Given the description of an element on the screen output the (x, y) to click on. 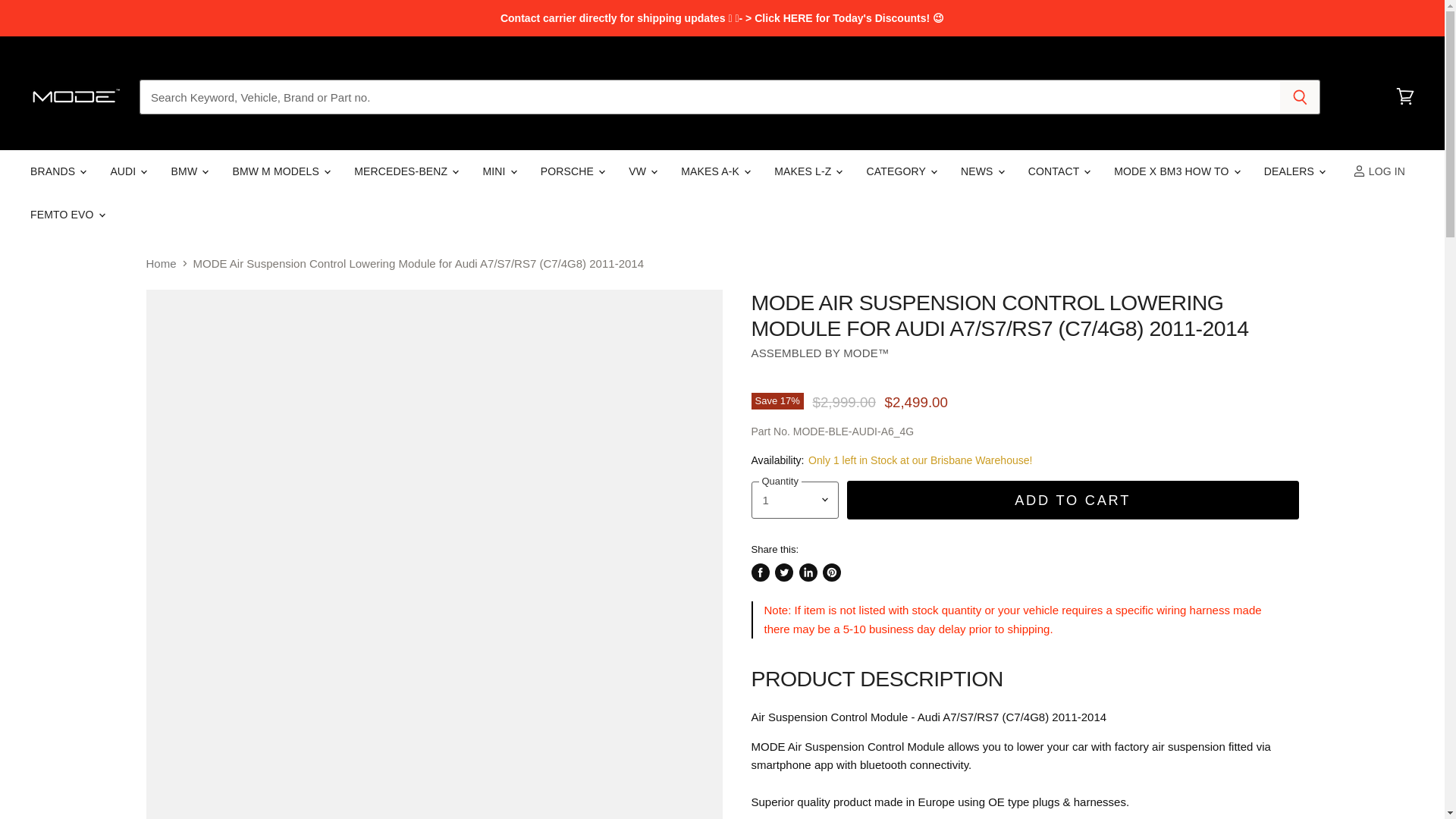
View cart (1405, 96)
BRANDS (57, 171)
ACCOUNT ICON (1358, 170)
